Given the description of an element on the screen output the (x, y) to click on. 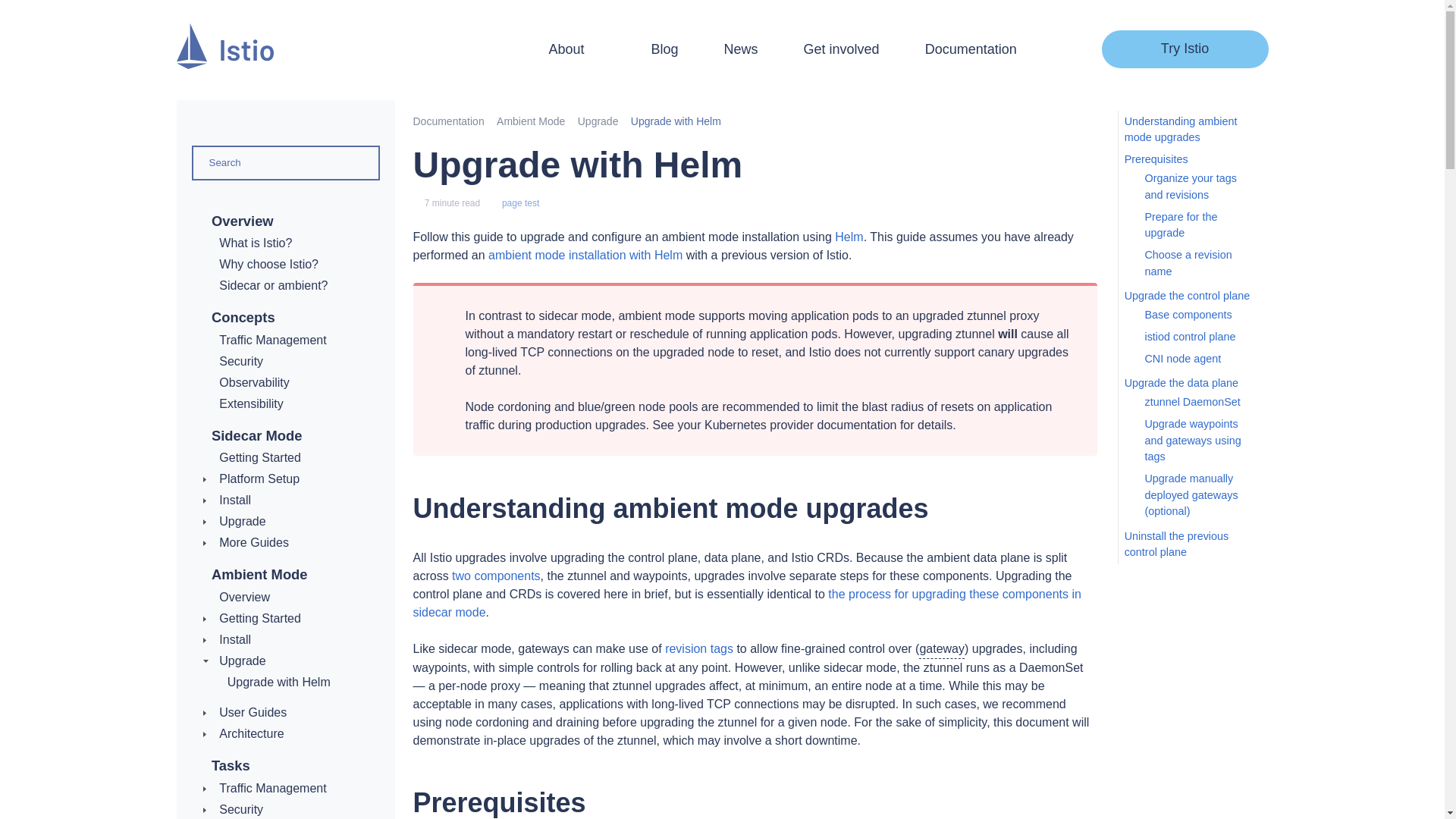
Blog (664, 49)
Extensibility (250, 403)
Sidecar Mode (256, 435)
Try Istio (1184, 48)
Observability (253, 382)
